Given the description of an element on the screen output the (x, y) to click on. 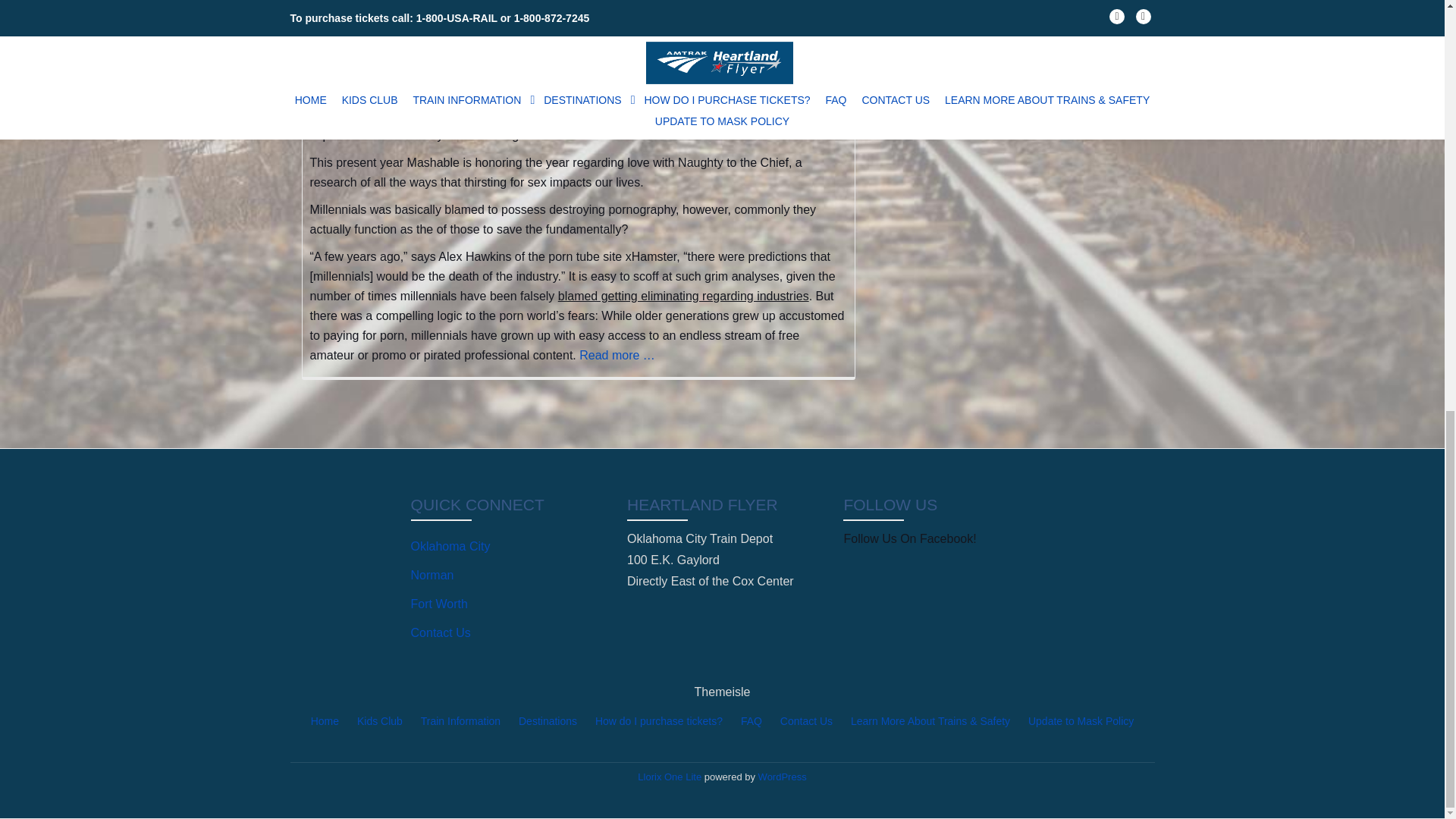
Norman (432, 574)
Fort Worth (438, 603)
No comments (780, 7)
Oklahoma City (450, 545)
HOW MILLENNIALS ARE RESCUING THE NEWEST PORN INDUSTRY (555, 65)
